Given the description of an element on the screen output the (x, y) to click on. 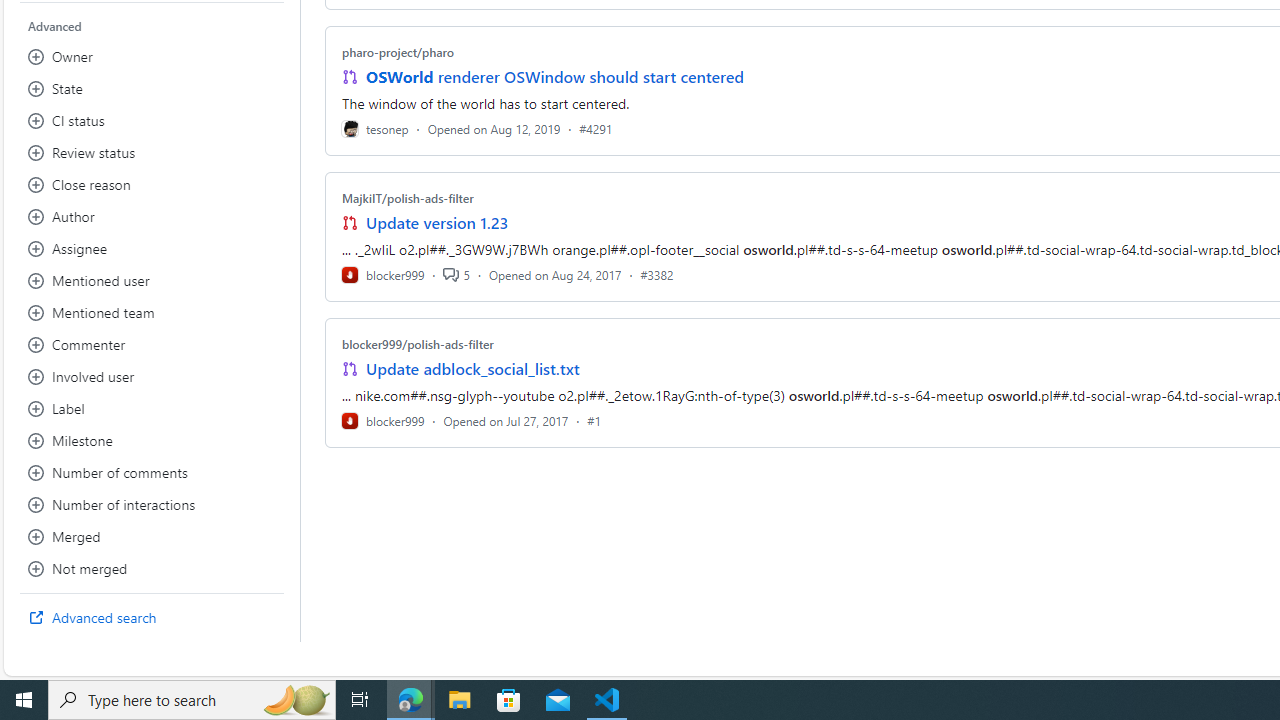
blocker999/polish-ads-filter (417, 343)
blocker999 (382, 420)
#3382 (657, 273)
Update version 1.23 (437, 222)
#4291 (595, 128)
Advanced search (152, 617)
